Given the description of an element on the screen output the (x, y) to click on. 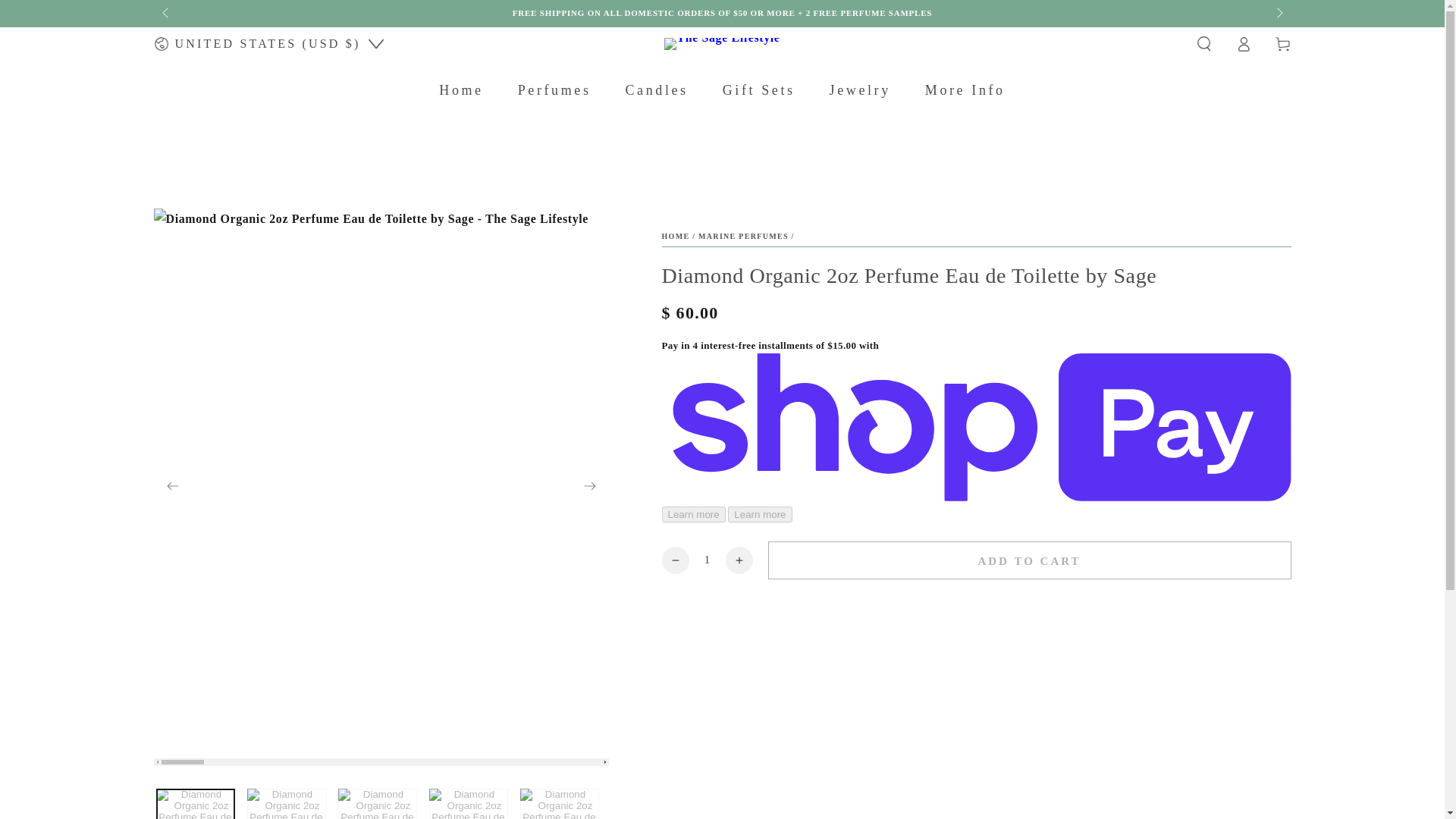
Back to the frontpage (674, 235)
1 (706, 560)
SKIP TO CONTENT (67, 14)
